Given the description of an element on the screen output the (x, y) to click on. 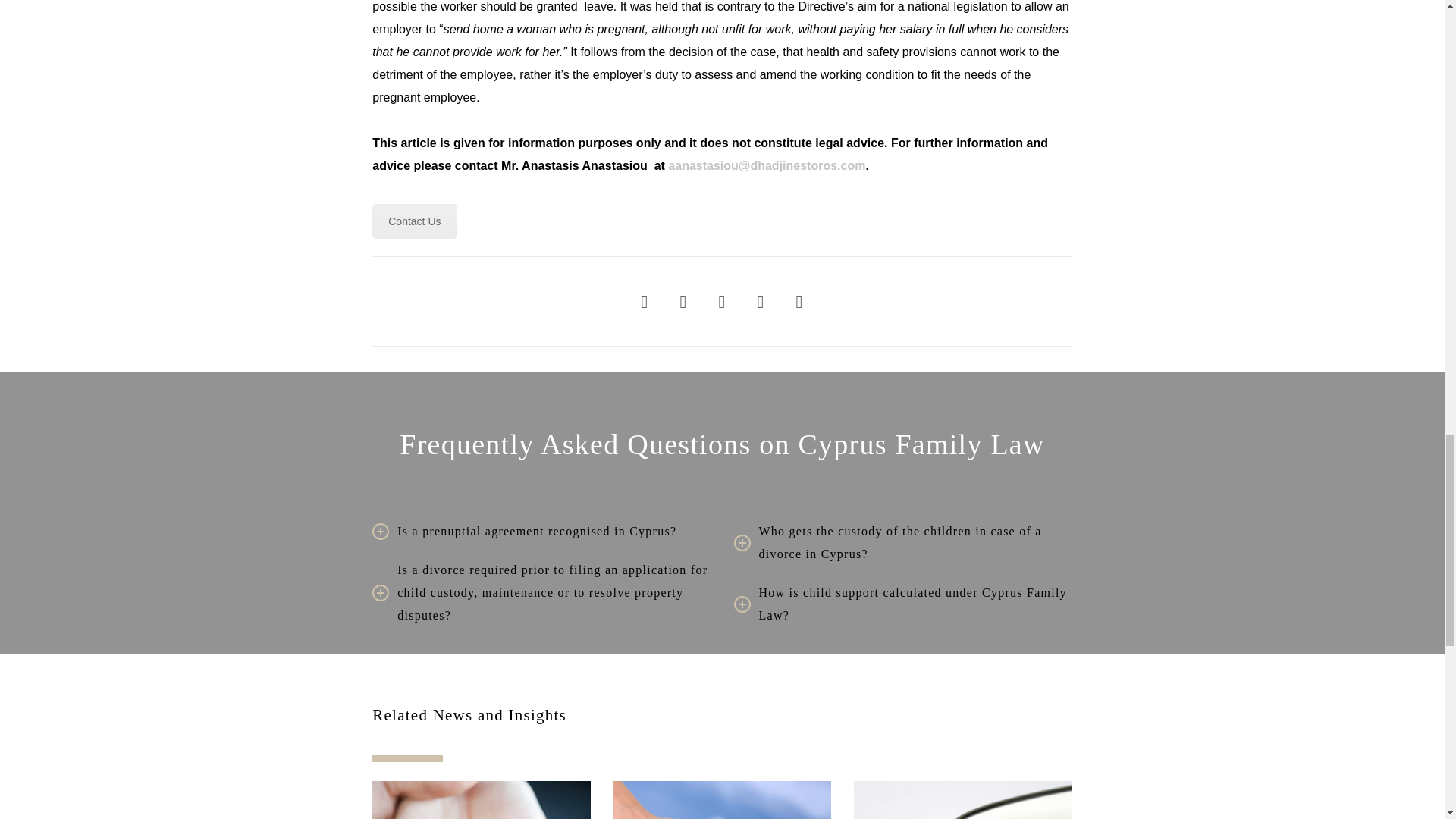
Contact Us (414, 221)
